Given the description of an element on the screen output the (x, y) to click on. 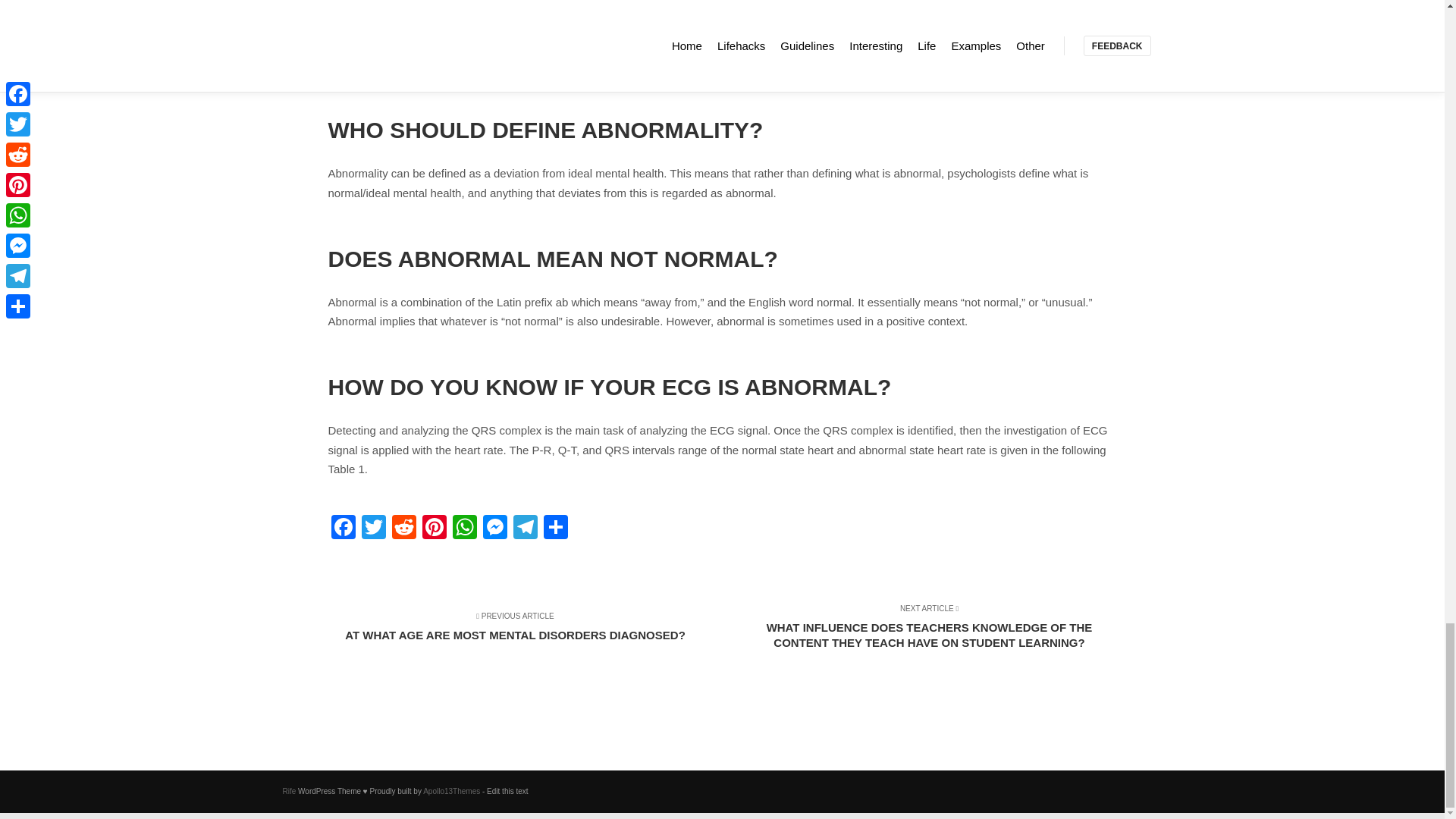
WhatsApp (463, 528)
Rife (288, 791)
Twitter (373, 528)
Telegram (524, 528)
Telegram (524, 528)
Reddit (403, 528)
Messenger (494, 528)
Facebook (342, 528)
Pinterest (433, 528)
